Given the description of an element on the screen output the (x, y) to click on. 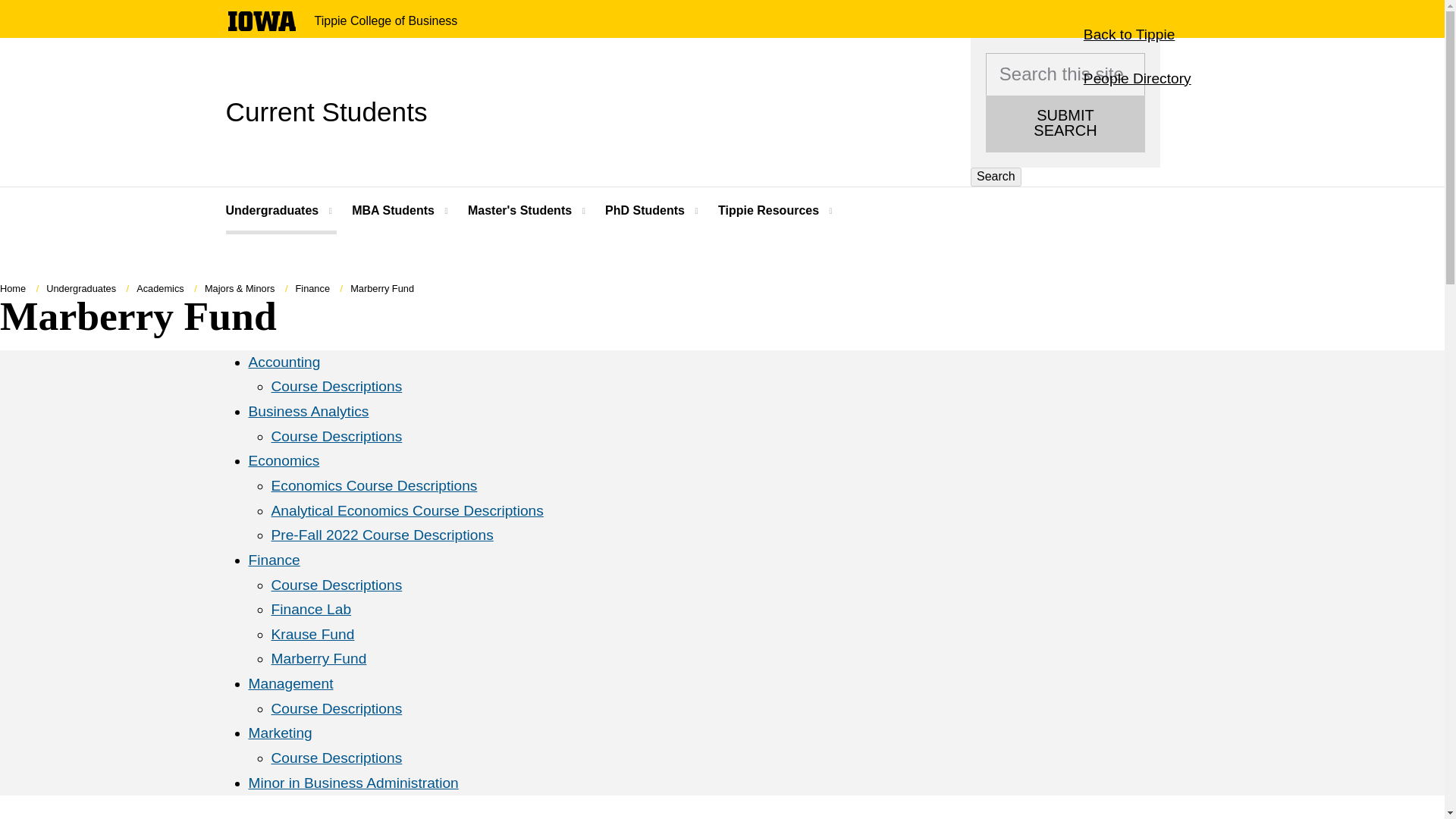
Back to Tippie (1129, 34)
MBA Students (261, 26)
People Directory (394, 210)
Undergraduates (1137, 78)
Tippie College of Business (281, 210)
Search (385, 20)
SUBMIT SEARCH (996, 176)
University of Iowa (1064, 123)
Current Students (261, 21)
Skip to main content (326, 111)
